Given the description of an element on the screen output the (x, y) to click on. 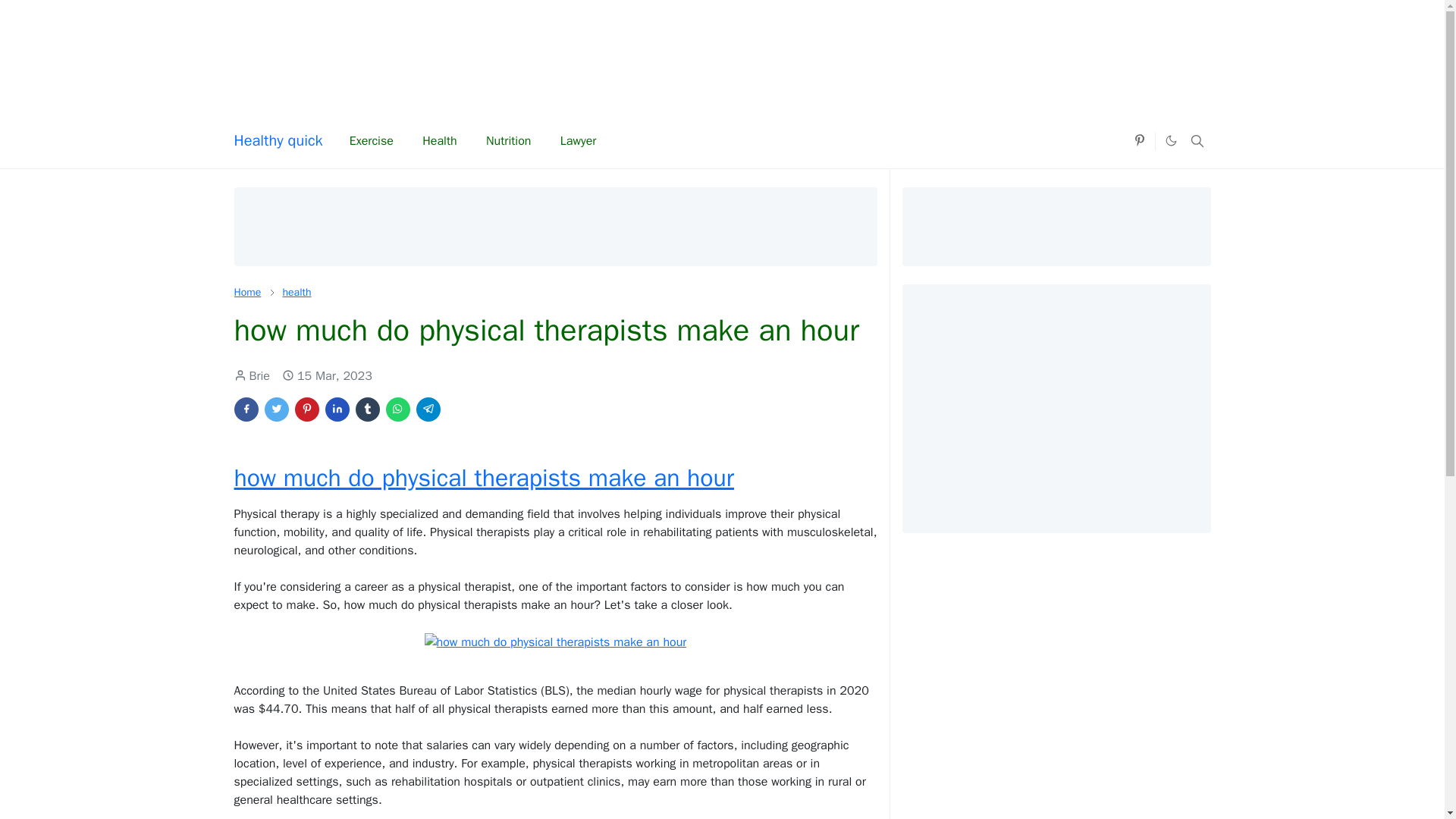
Exercise (371, 140)
Home (246, 291)
health (296, 291)
Pin It (306, 409)
Lawyer (578, 140)
Linkedin Share (336, 409)
Facebook Share (244, 409)
Healthy quick (276, 140)
Tumblr Share (366, 409)
Tweet This (275, 409)
Health (439, 140)
how much do physical therapists make an hour (482, 477)
how much do physical therapists make an hour (556, 642)
Home (246, 291)
health (296, 291)
